Given the description of an element on the screen output the (x, y) to click on. 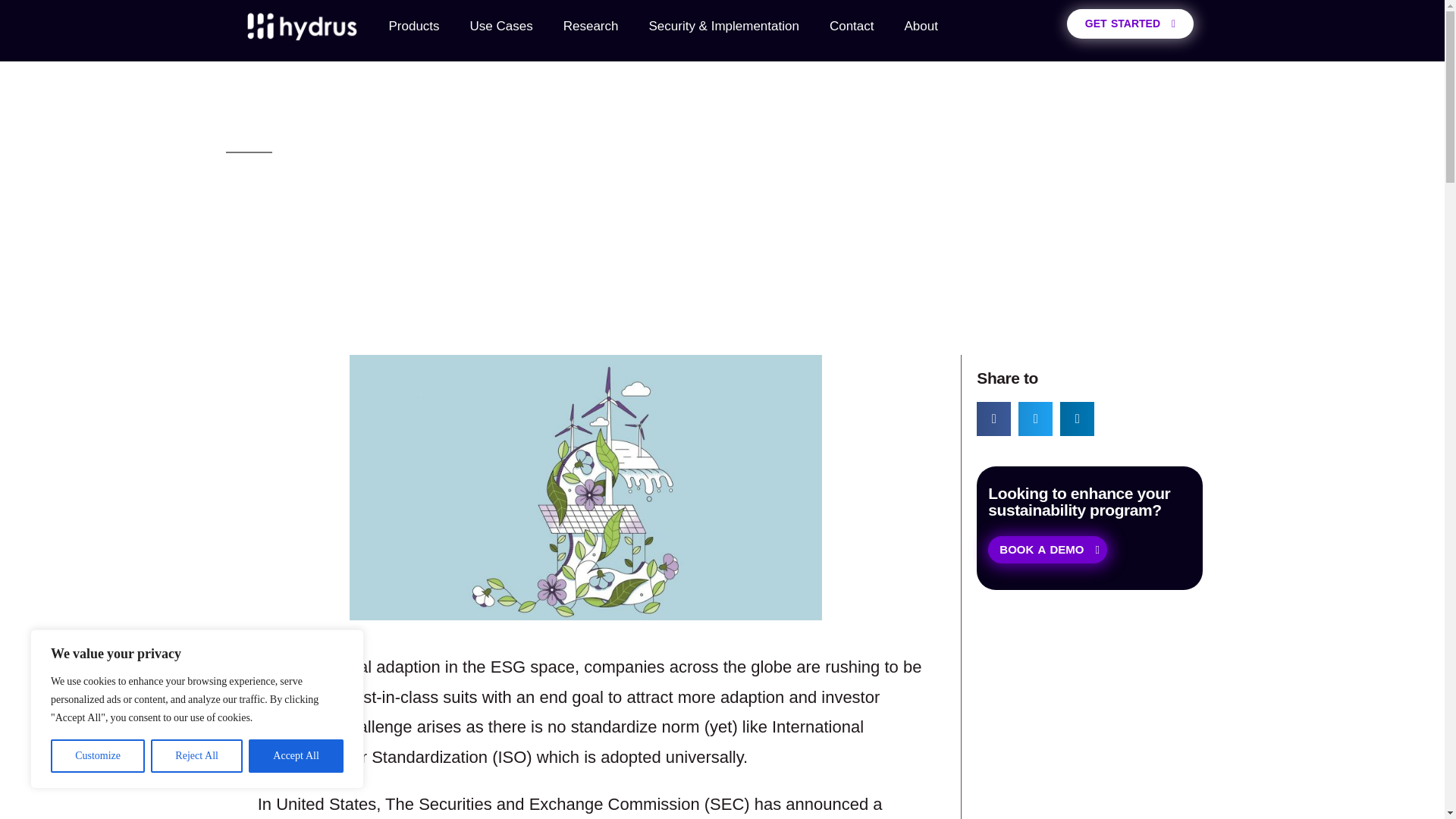
Accept All (295, 756)
GET STARTED (1130, 23)
About (920, 26)
Contact (851, 26)
Customize (97, 756)
Products (413, 26)
Reject All (197, 756)
Use Cases (501, 26)
Research (590, 26)
